Given the description of an element on the screen output the (x, y) to click on. 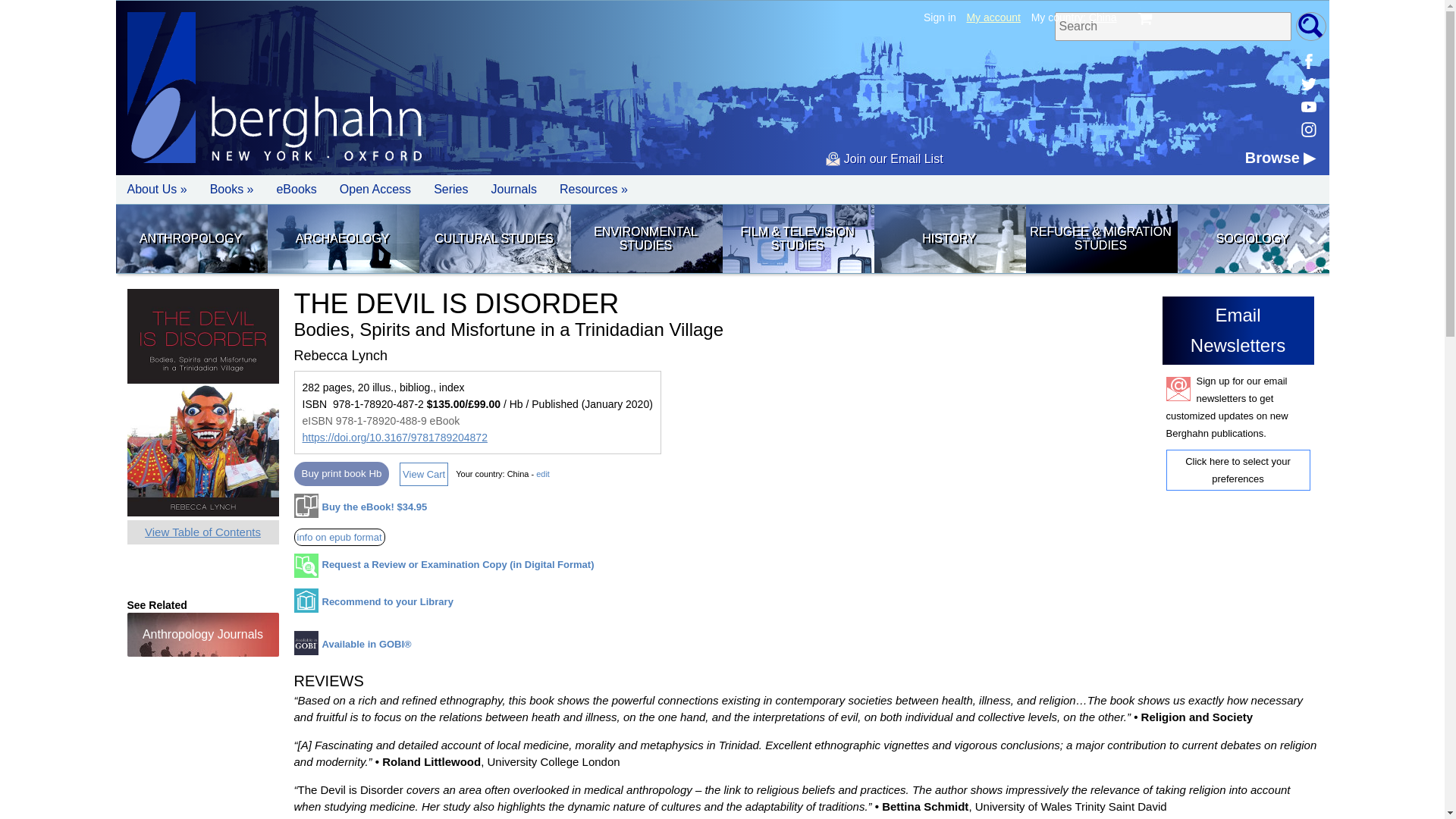
Berghahn Books on Youtube (1308, 106)
go (1310, 26)
Berghahn Books on Facebook (1308, 60)
History (948, 238)
Berghahn Books on Instagram (1308, 128)
Add to Cart (361, 510)
Browse (1280, 157)
go (1310, 26)
Cultural Studies (494, 238)
Berghahn Books on Twitter (1308, 83)
Anthropology (189, 238)
Environmental Studies (645, 238)
anthropology Journals (203, 634)
Archaeology (341, 238)
Available in GOBI (353, 647)
